Given the description of an element on the screen output the (x, y) to click on. 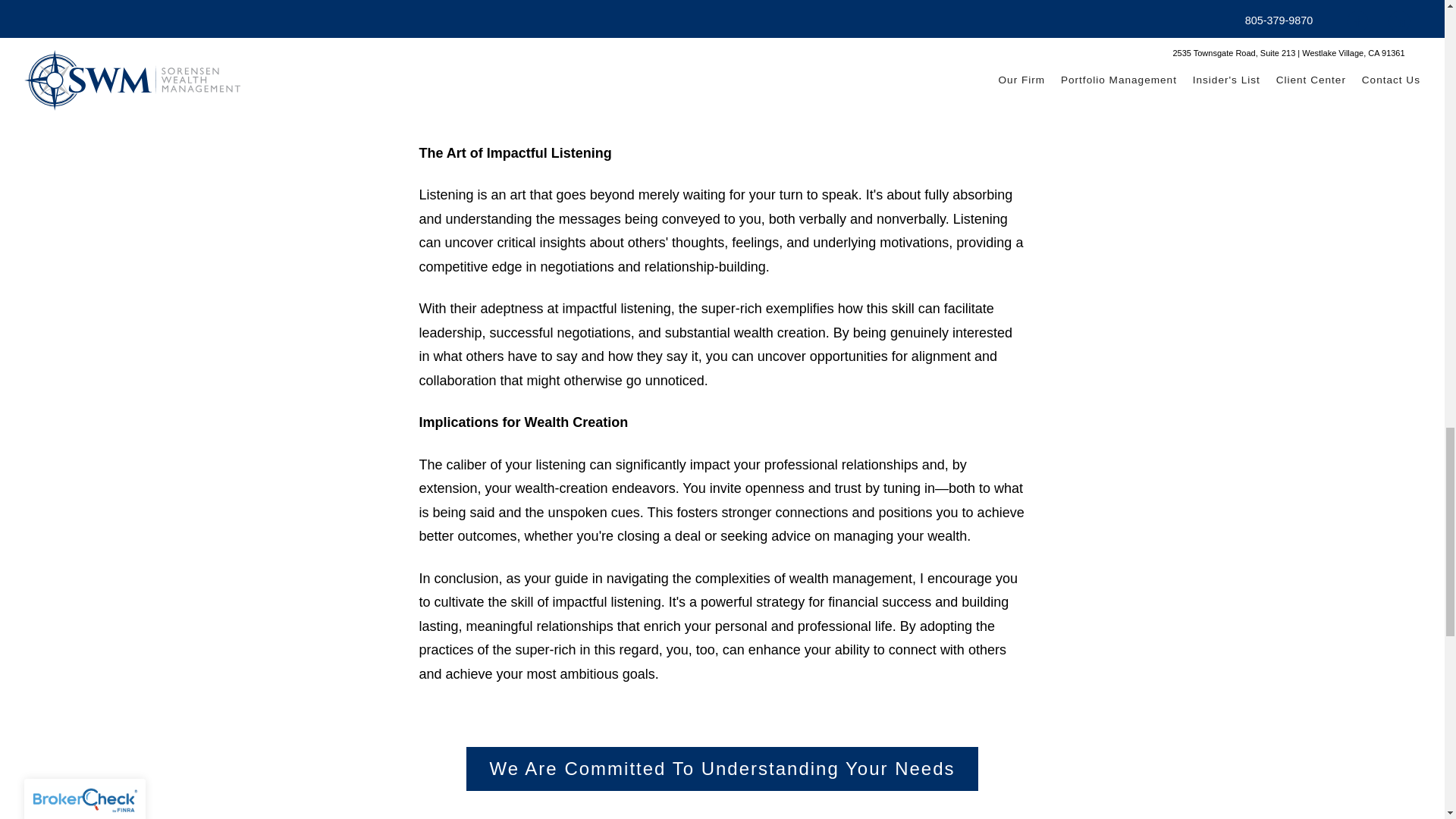
We Are Committed To Understanding Your Needs (720, 768)
